Given the description of an element on the screen output the (x, y) to click on. 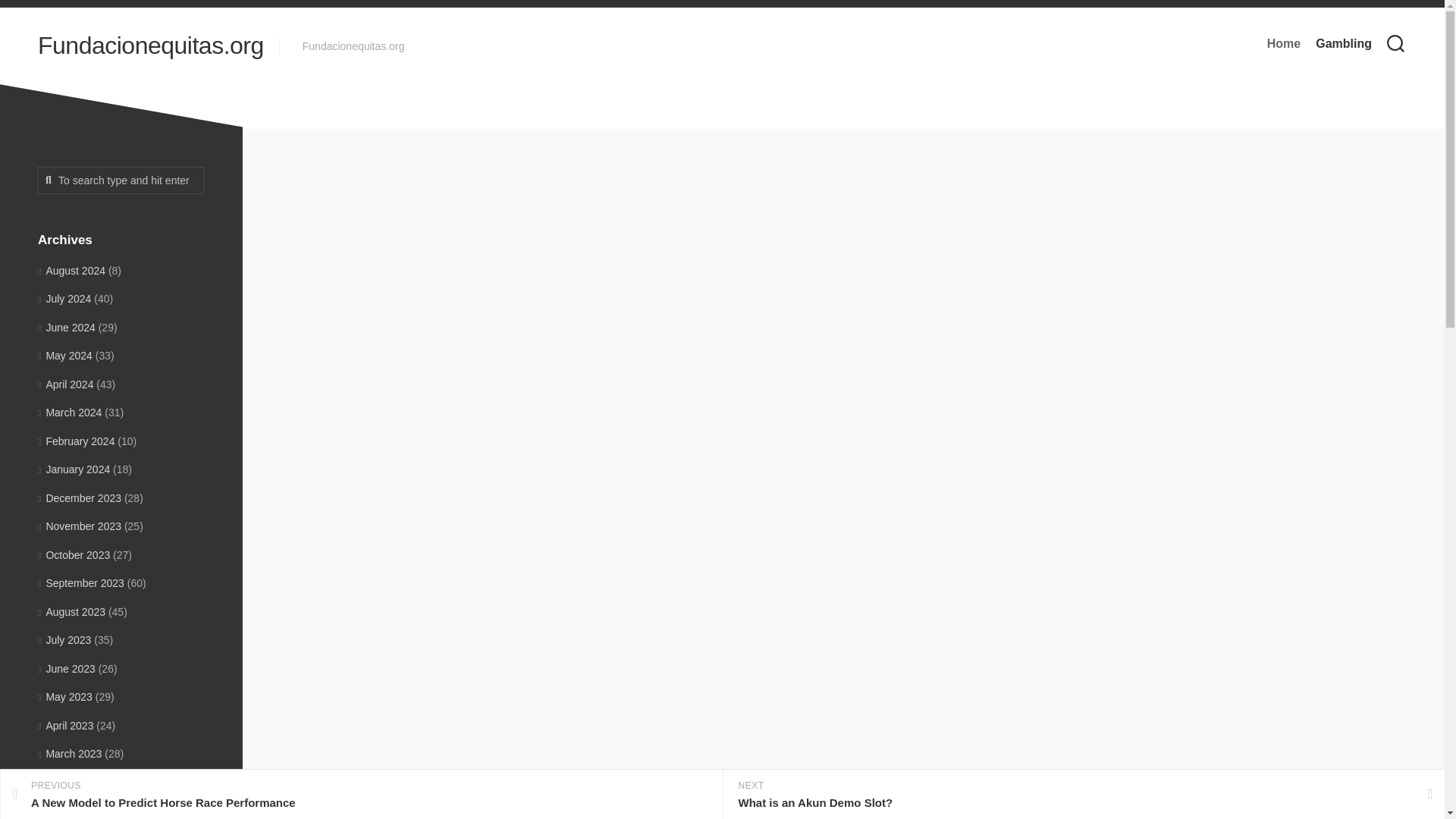
admin (724, 232)
October 2023 (73, 554)
February 2024 (76, 440)
March 2023 (69, 753)
To search type and hit enter (121, 180)
Gambling (776, 232)
August 2023 (70, 611)
April 2024 (65, 383)
November 2023 (78, 526)
Gambling (1343, 43)
July 2023 (361, 794)
Fundacionequitas.org (63, 639)
Home (150, 44)
April 2023 (1283, 43)
